Given the description of an element on the screen output the (x, y) to click on. 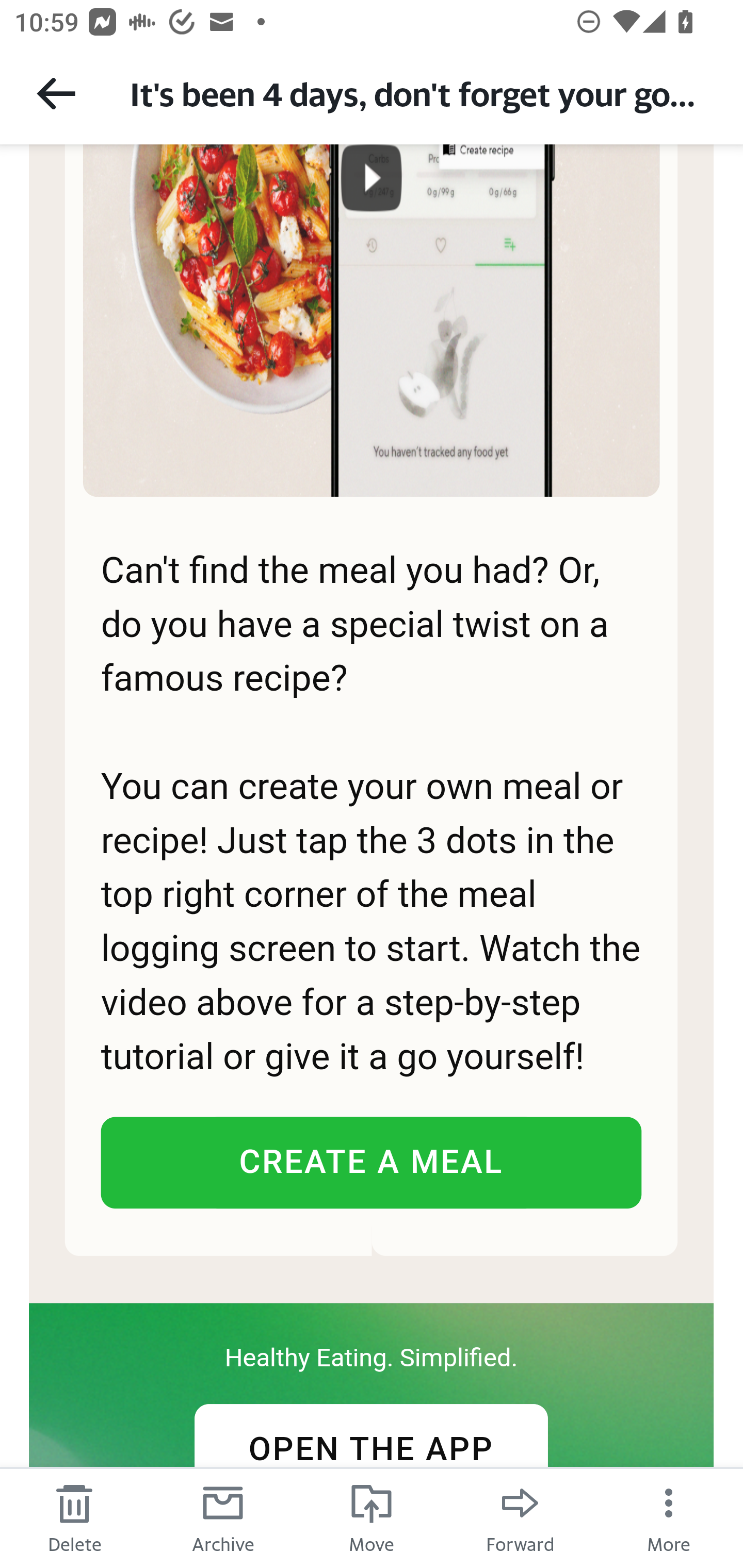
Back (55, 92)
CREATE A MEAL (371, 1162)
OPEN THE APP (370, 1450)
Delete (74, 1517)
Archive (222, 1517)
Move (371, 1517)
Forward (519, 1517)
More (668, 1517)
